Given the description of an element on the screen output the (x, y) to click on. 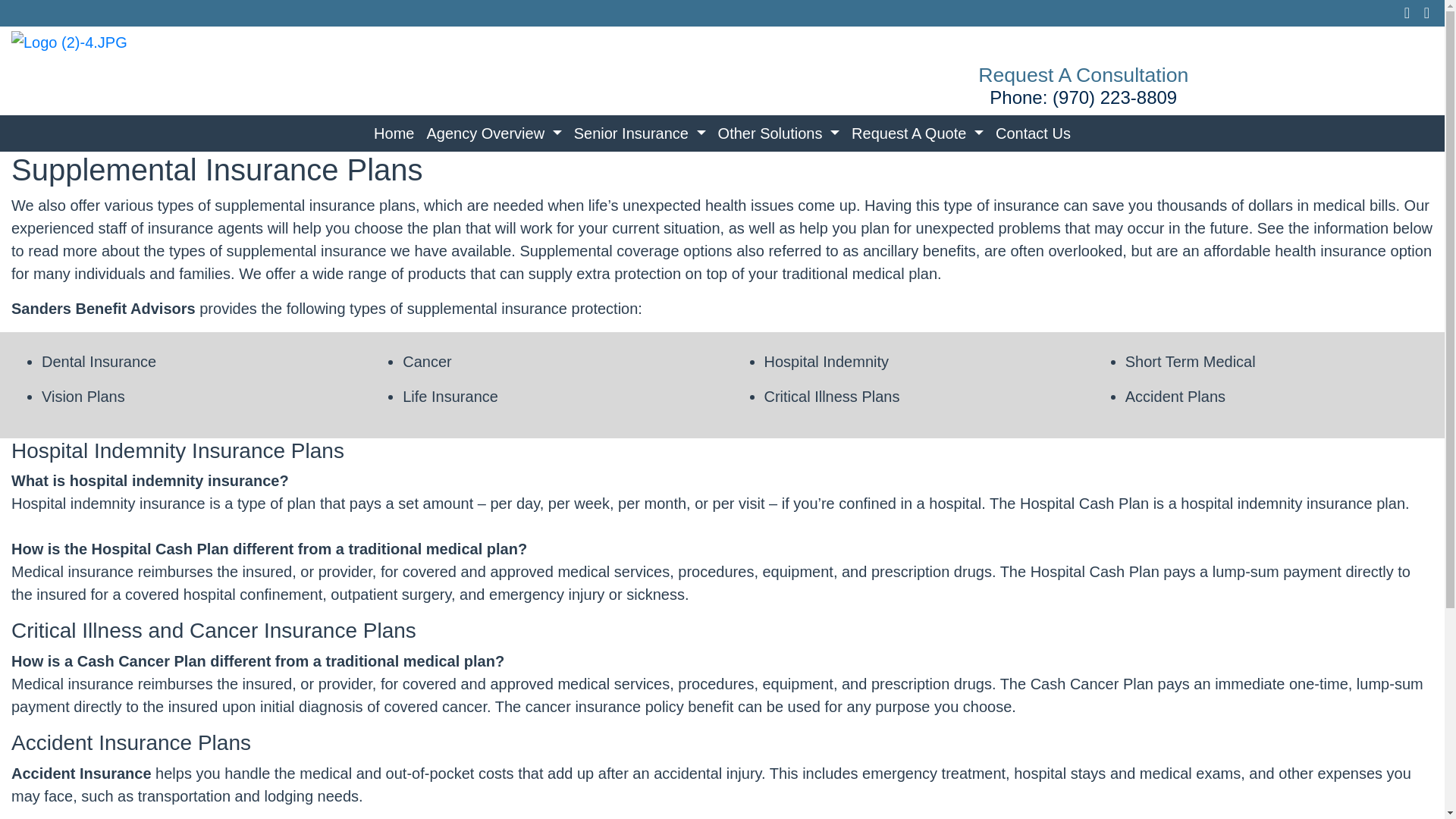
Sanders Benefit Advisors (69, 40)
Agency Overview (493, 133)
Request A Consultation (1083, 74)
Home (394, 133)
Other Solutions (778, 133)
Senior Insurance (639, 133)
Request A Quote (917, 133)
